Given the description of an element on the screen output the (x, y) to click on. 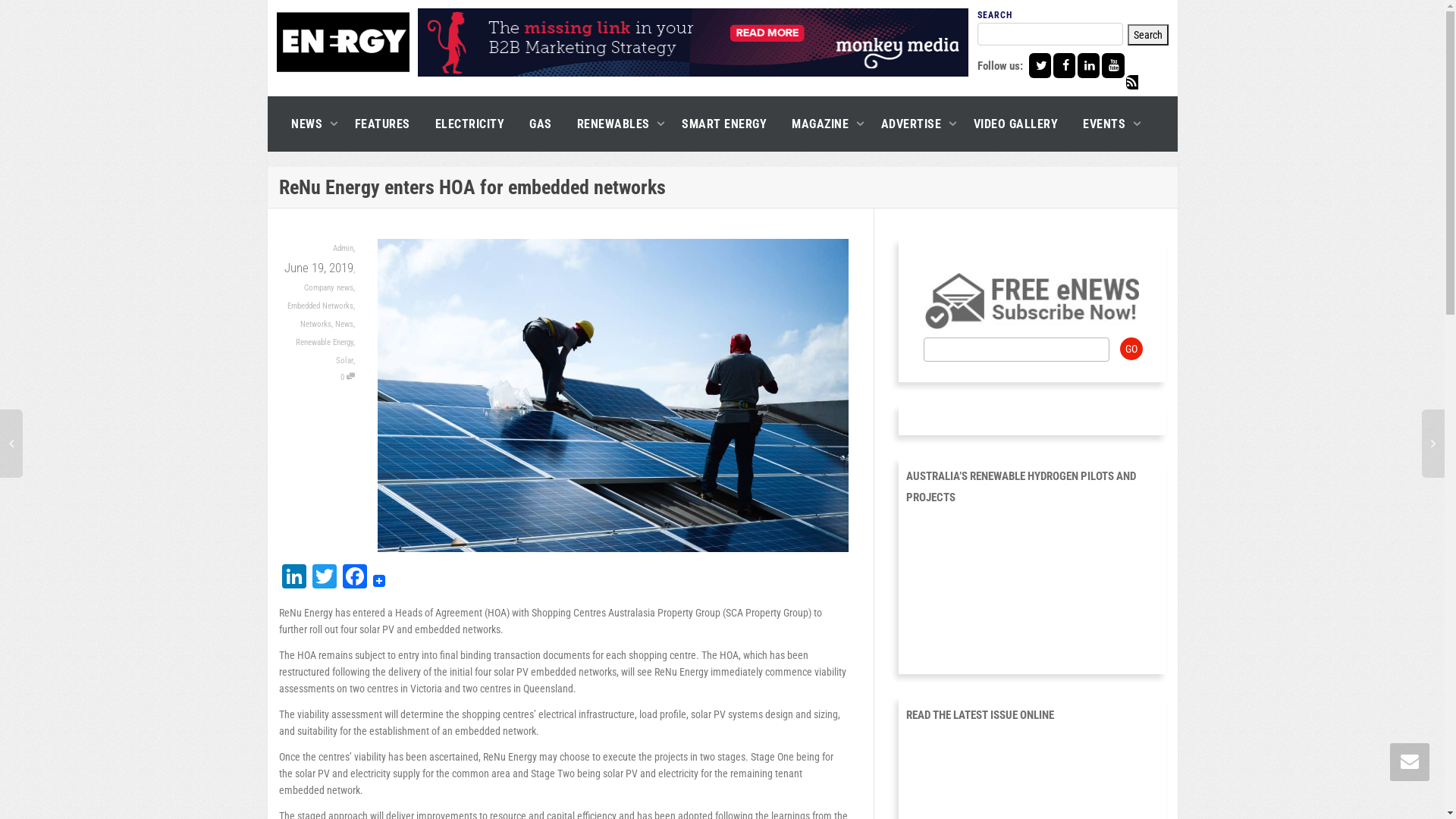
NEWS Element type: text (310, 123)
News Element type: text (344, 324)
RENEWABLES Element type: text (616, 123)
GAS Element type: text (540, 123)
Solar Element type: text (343, 360)
LinkedIn Element type: text (294, 578)
MAGAZINE Element type: text (823, 123)
0 Element type: text (346, 377)
RSS Feed Element type: text (1096, 101)
ADVERTISE Element type: text (914, 123)
Search Element type: text (1146, 34)
FEATURES Element type: text (382, 123)
Energy Magazine Element type: hover (342, 42)
Company news Element type: text (327, 287)
Facebook Element type: text (354, 578)
VIDEO GALLERY Element type: text (1015, 123)
EVENTS Element type: text (1107, 123)
Embedded Networks Element type: text (319, 305)
ELECTRICITY Element type: text (470, 123)
Renewable Energy Element type: text (324, 342)
SMART ENERGY Element type: text (723, 123)
Admin Element type: text (342, 248)
Go Element type: text (1130, 348)
June 19, 2019 Element type: text (315, 267)
YouTube player Element type: hover (1031, 586)
Networks Element type: text (315, 324)
Twitter Element type: text (324, 578)
